Given the description of an element on the screen output the (x, y) to click on. 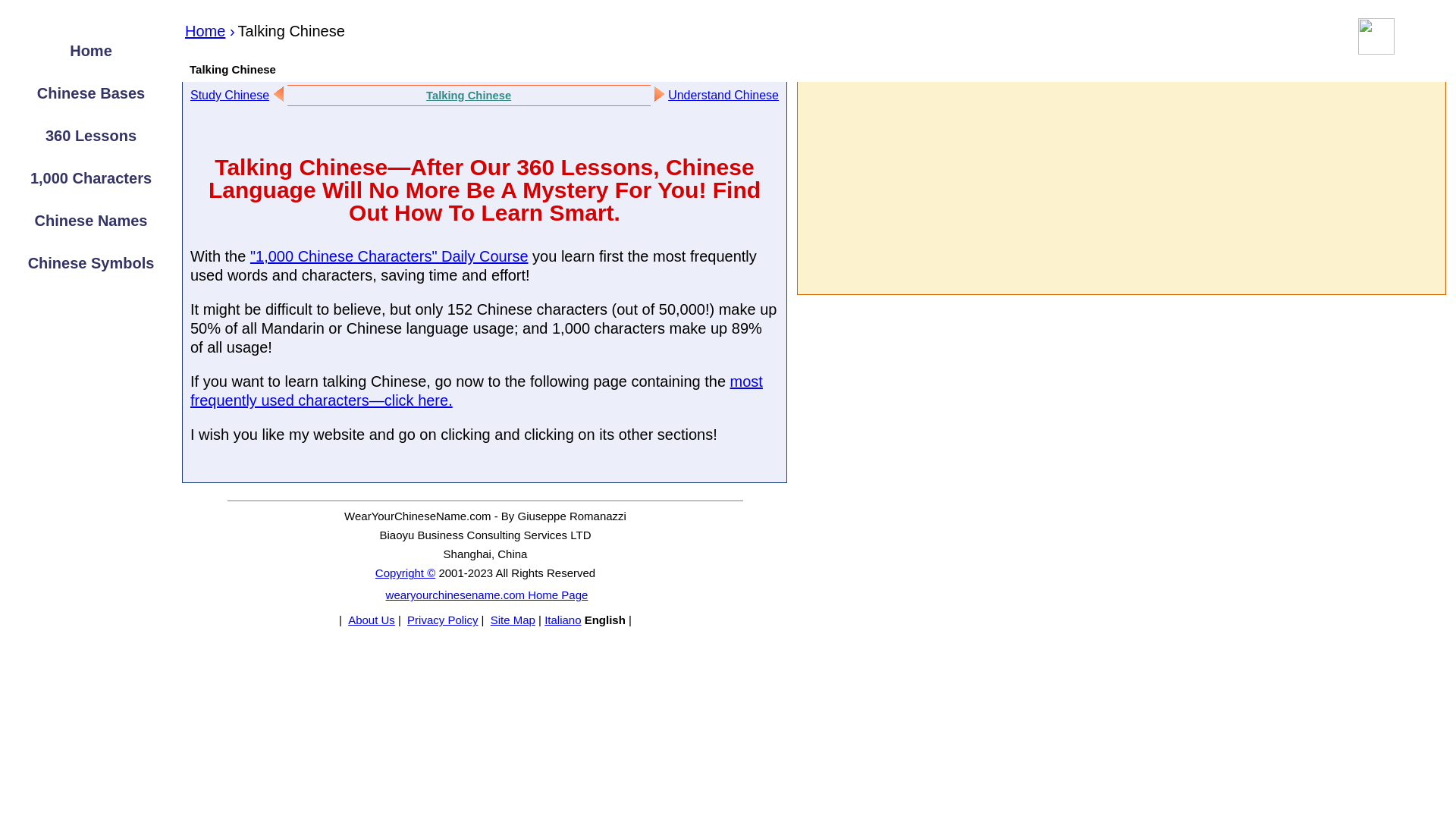
360 Lessons (90, 135)
Understand Chinese (723, 94)
"1,000 Chinese Characters" Daily Course (389, 256)
1,000 Characters (90, 177)
Study Chinese (229, 94)
Privacy Policy (440, 619)
Chinese Symbols (90, 262)
About Us (369, 619)
Chinese Bases (90, 93)
Italiano (562, 619)
wearyourchinesename.com Home Page (485, 594)
Home (90, 50)
Chinese Names (90, 220)
Talking Chinese (468, 95)
